Given the description of an element on the screen output the (x, y) to click on. 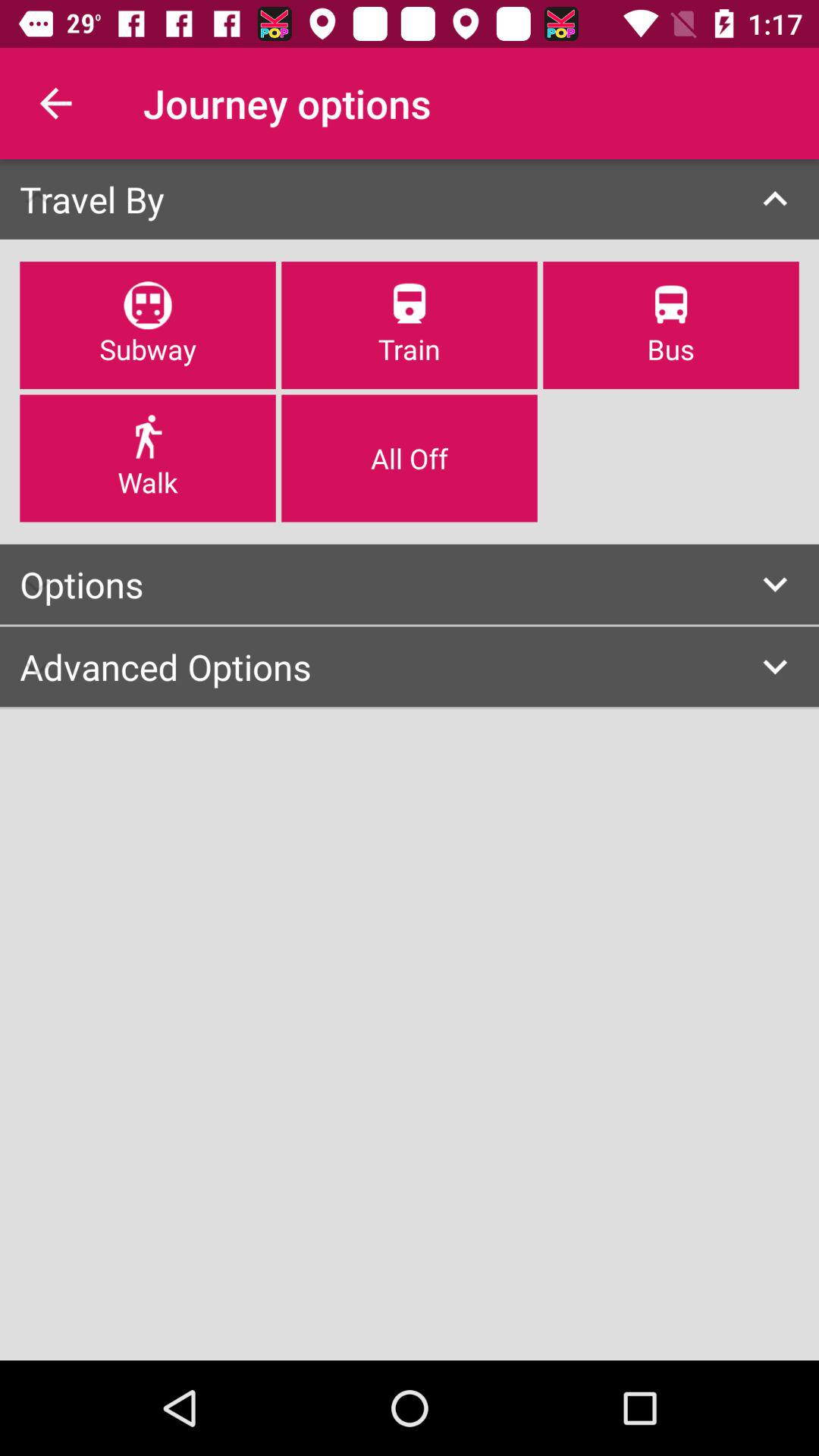
turn off icon above the travel by (55, 103)
